Given the description of an element on the screen output the (x, y) to click on. 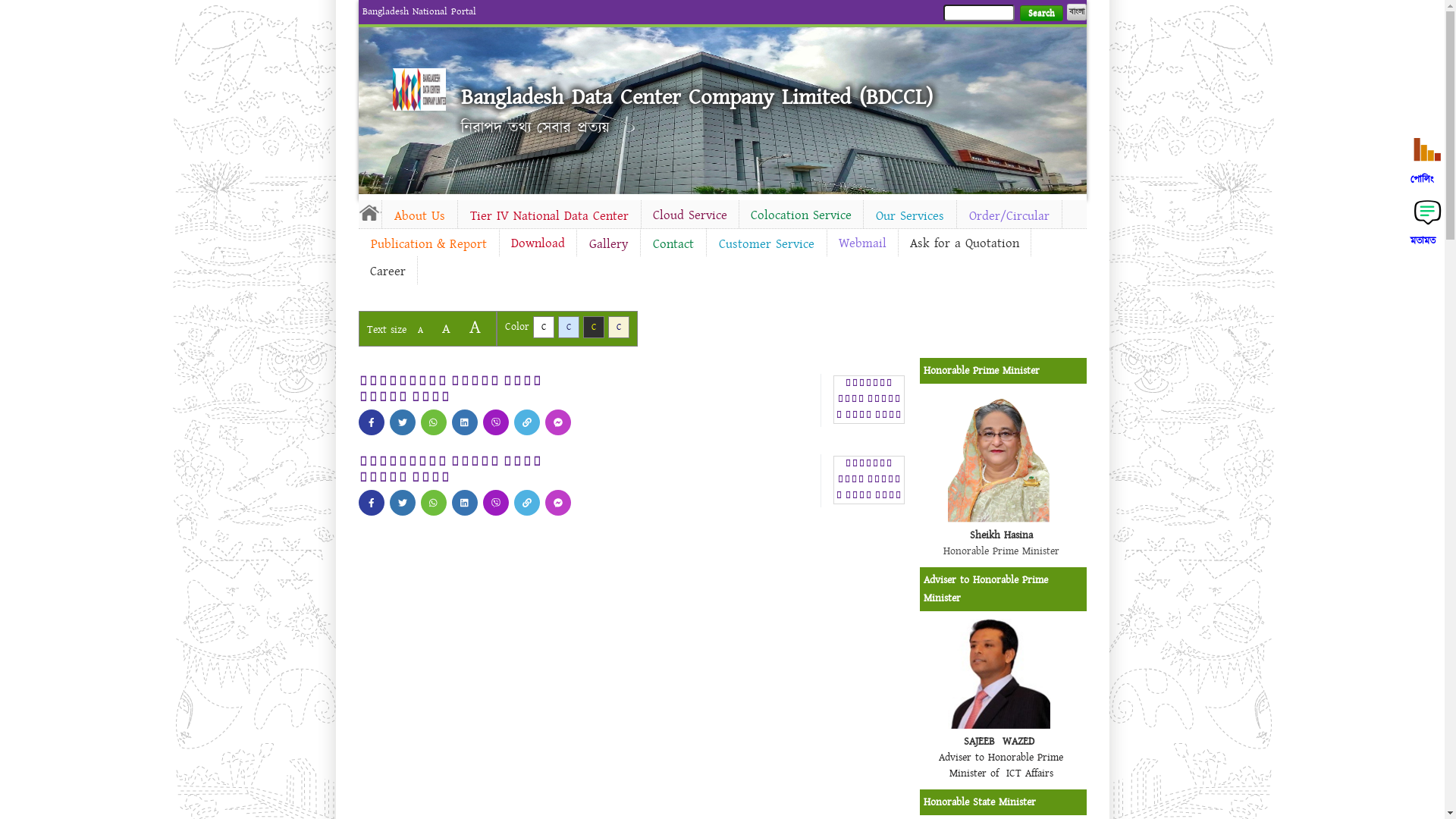
Home Element type: hover (418, 89)
C Element type: text (592, 327)
Ask for a Quotation Element type: text (963, 243)
Bangladesh Data Center Company Limited (BDCCL) Element type: text (696, 96)
Home Element type: hover (368, 211)
Webmail Element type: text (861, 243)
C Element type: text (568, 327)
Colocation Service Element type: text (800, 215)
Tier IV National Data Center Element type: text (549, 216)
Cloud Service Element type: text (689, 215)
C Element type: text (618, 327)
Download Element type: text (536, 243)
Gallery Element type: text (607, 244)
C Element type: text (542, 327)
Bangladesh National Portal Element type: text (419, 11)
Customer Service Element type: text (766, 244)
Publication & Report Element type: text (427, 244)
About Us Element type: text (419, 216)
A Element type: text (474, 327)
Our Services Element type: text (908, 216)
Order/Circular Element type: text (1009, 216)
A Element type: text (419, 330)
A Element type: text (445, 328)
Search Element type: text (1040, 13)
Career Element type: text (386, 271)
Contact Element type: text (672, 244)
